Given the description of an element on the screen output the (x, y) to click on. 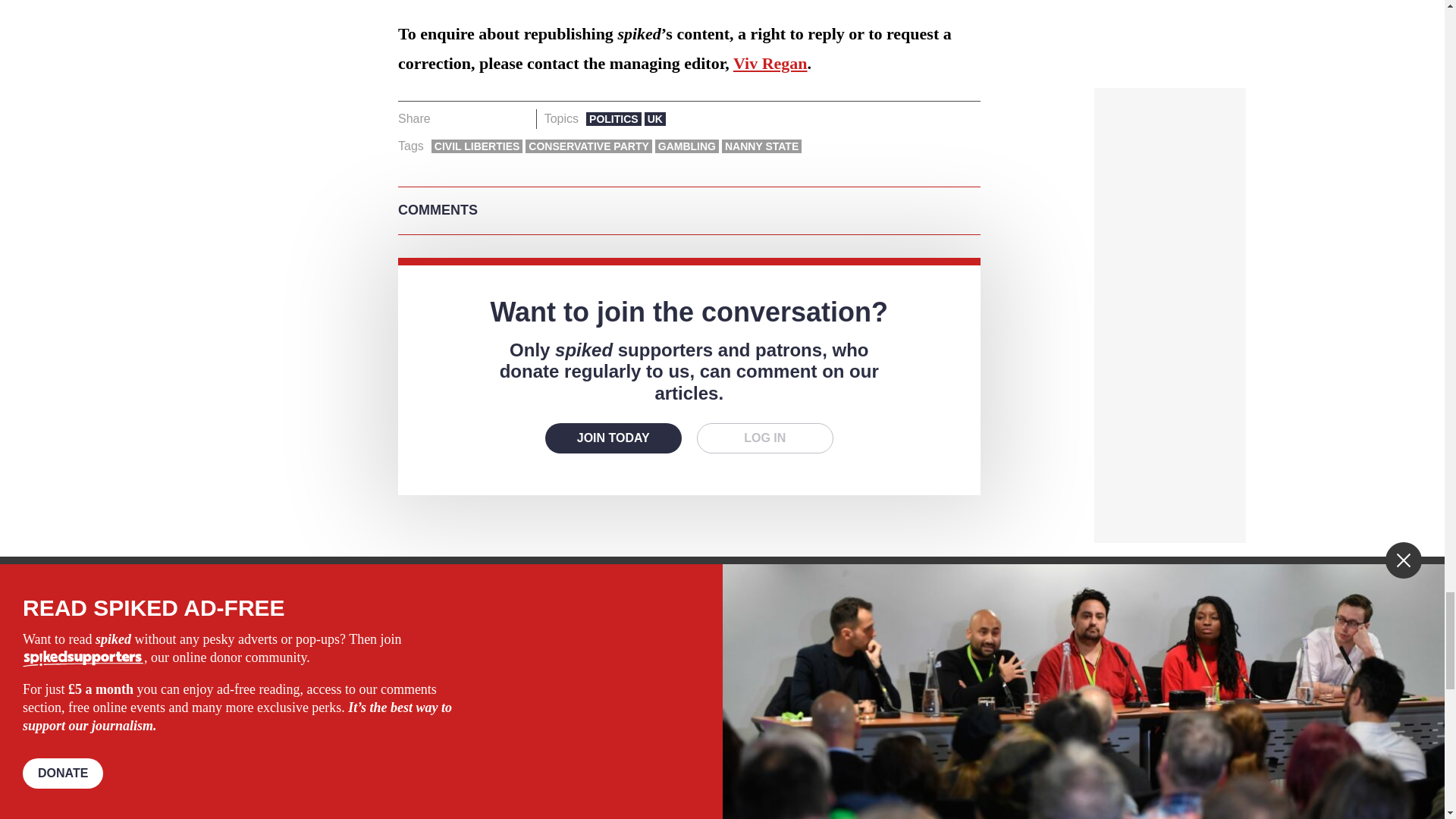
Share on Twitter (471, 118)
Share on Facebook (448, 118)
Share on Whatsapp (494, 118)
Share on Email (518, 118)
